Given the description of an element on the screen output the (x, y) to click on. 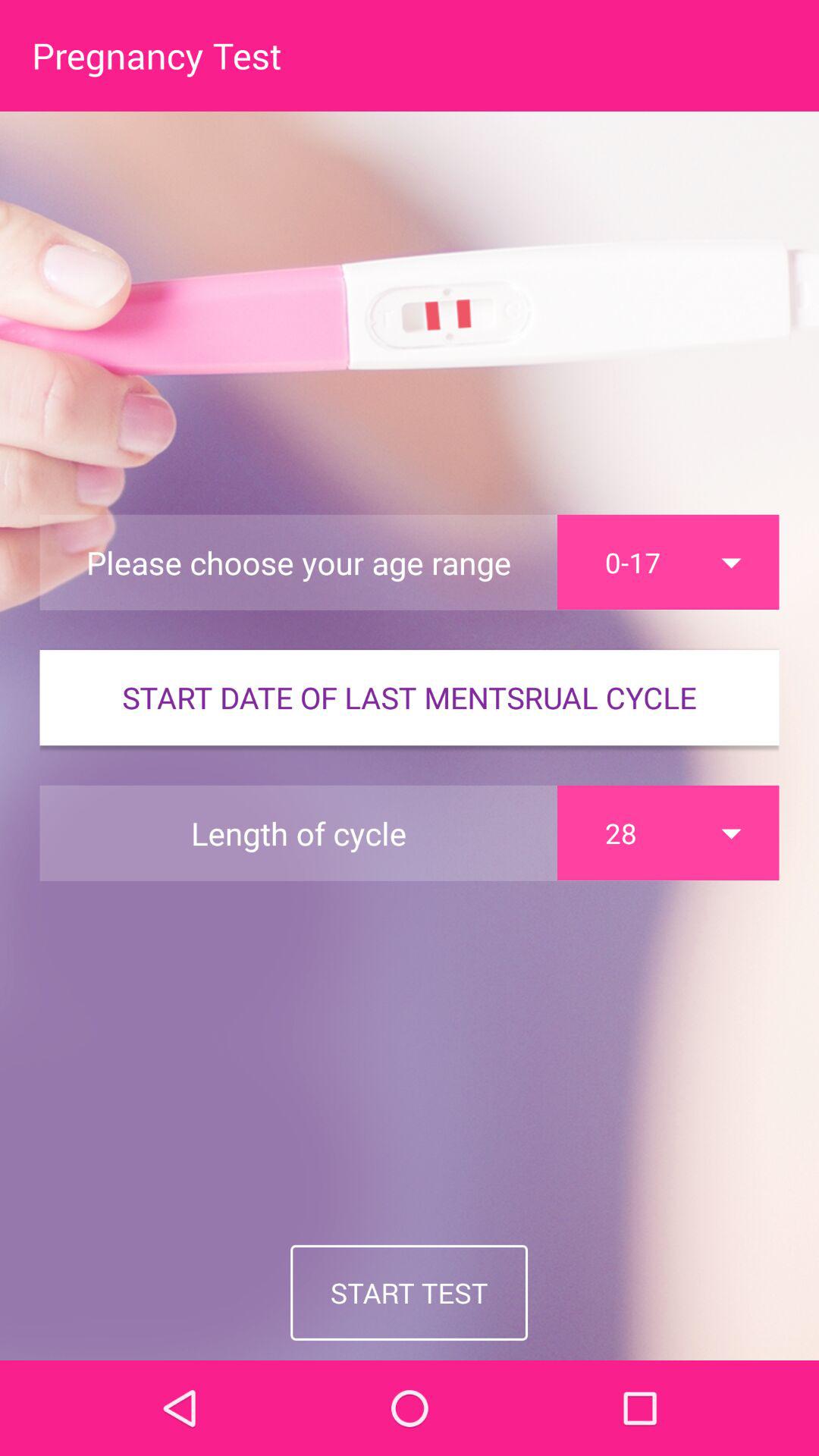
press icon above start date of icon (668, 562)
